Given the description of an element on the screen output the (x, y) to click on. 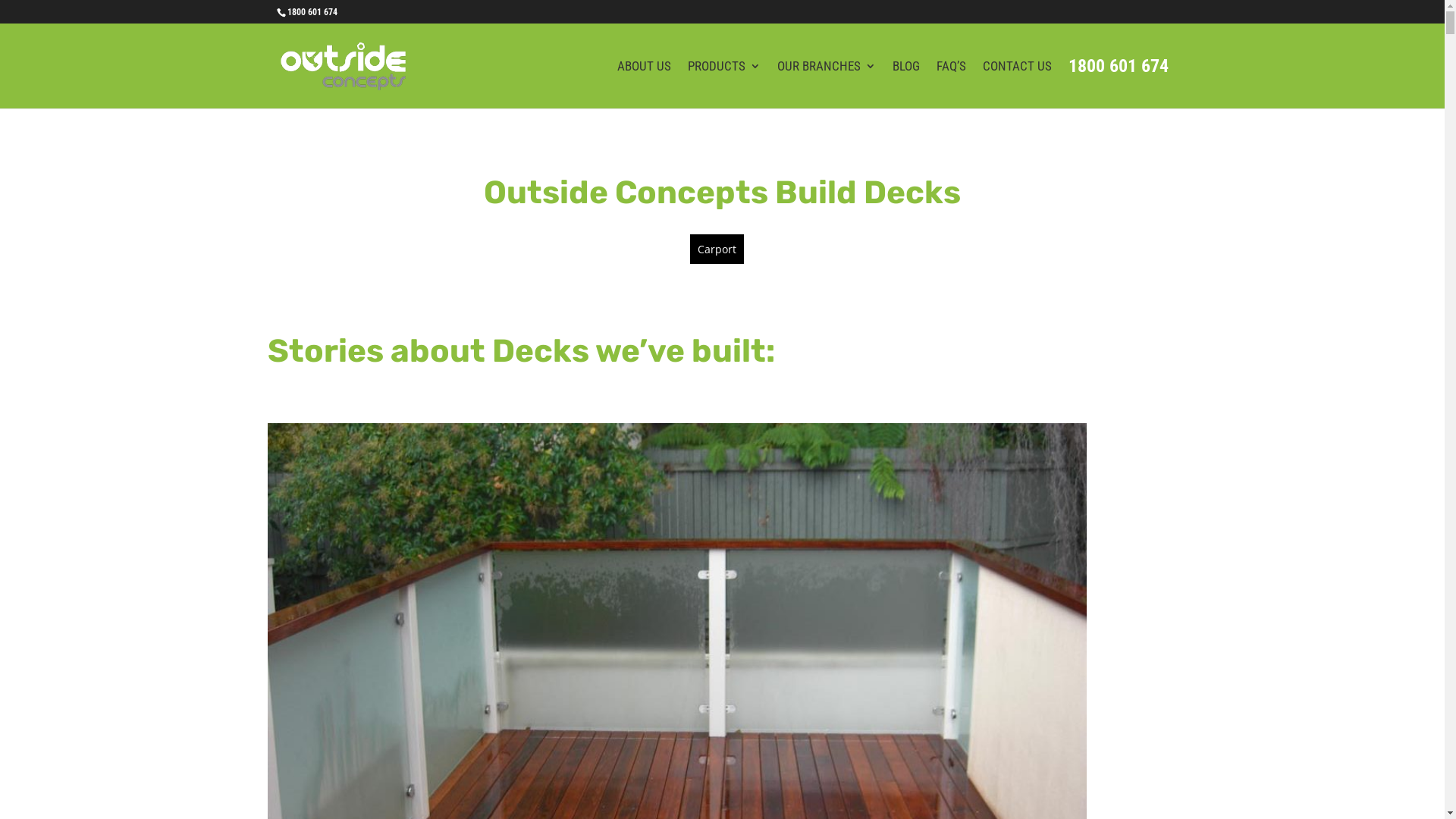
OUR BRANCHES Element type: text (825, 84)
PRODUCTS Element type: text (723, 84)
BLOG Element type: text (905, 84)
CONTACT US Element type: text (1016, 84)
1800 601 674 Element type: text (1117, 84)
ABOUT US Element type: text (644, 84)
1800 601 674 Element type: text (311, 11)
